Given the description of an element on the screen output the (x, y) to click on. 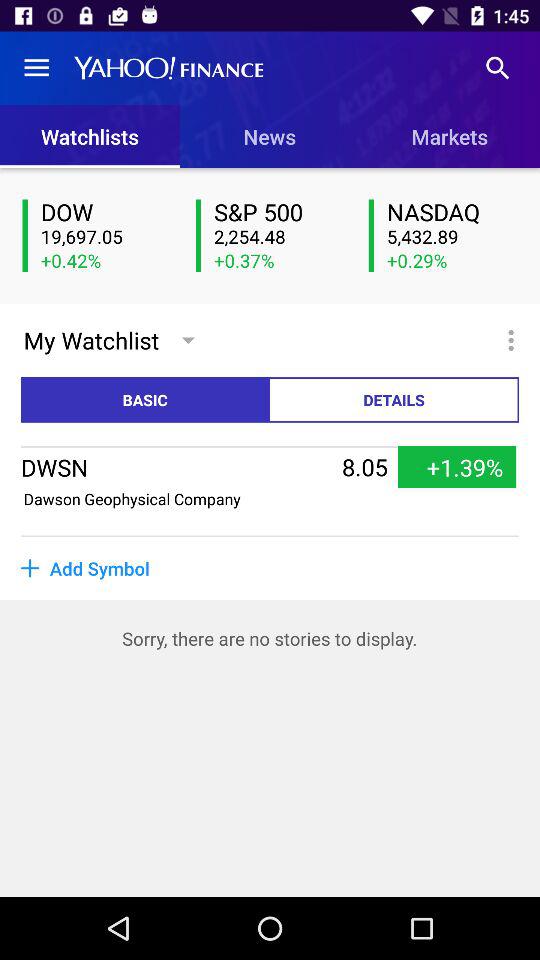
launch the item above add symbol item (270, 535)
